Given the description of an element on the screen output the (x, y) to click on. 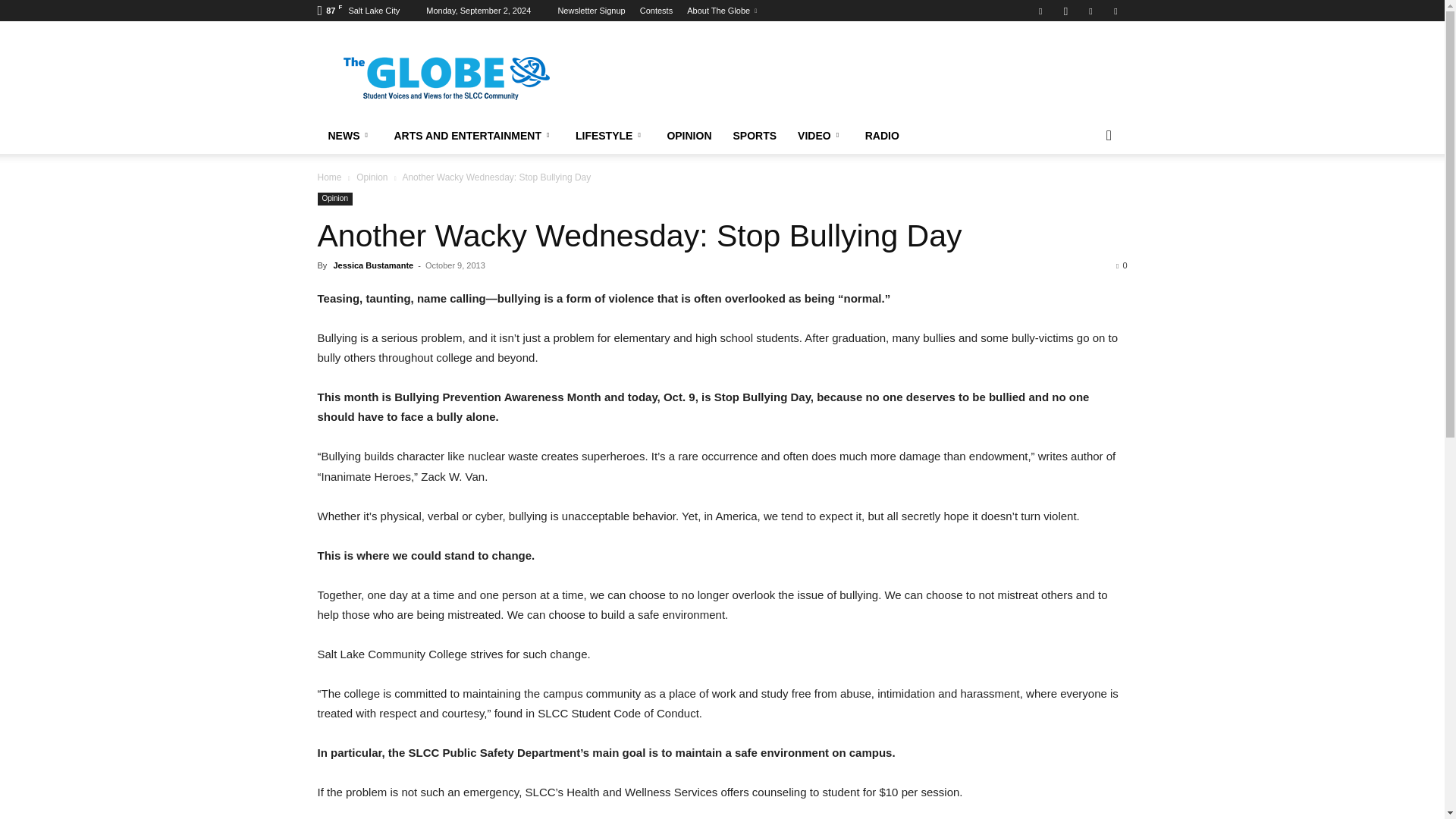
Newsletter Signup (590, 10)
View all posts in Opinion (371, 176)
About The Globe (722, 10)
Twitter (1090, 10)
Instagram (1065, 10)
Student Voices and Views for the SLCC Community (445, 76)
Youtube (1114, 10)
Facebook (1040, 10)
Contests (656, 10)
